Given the description of an element on the screen output the (x, y) to click on. 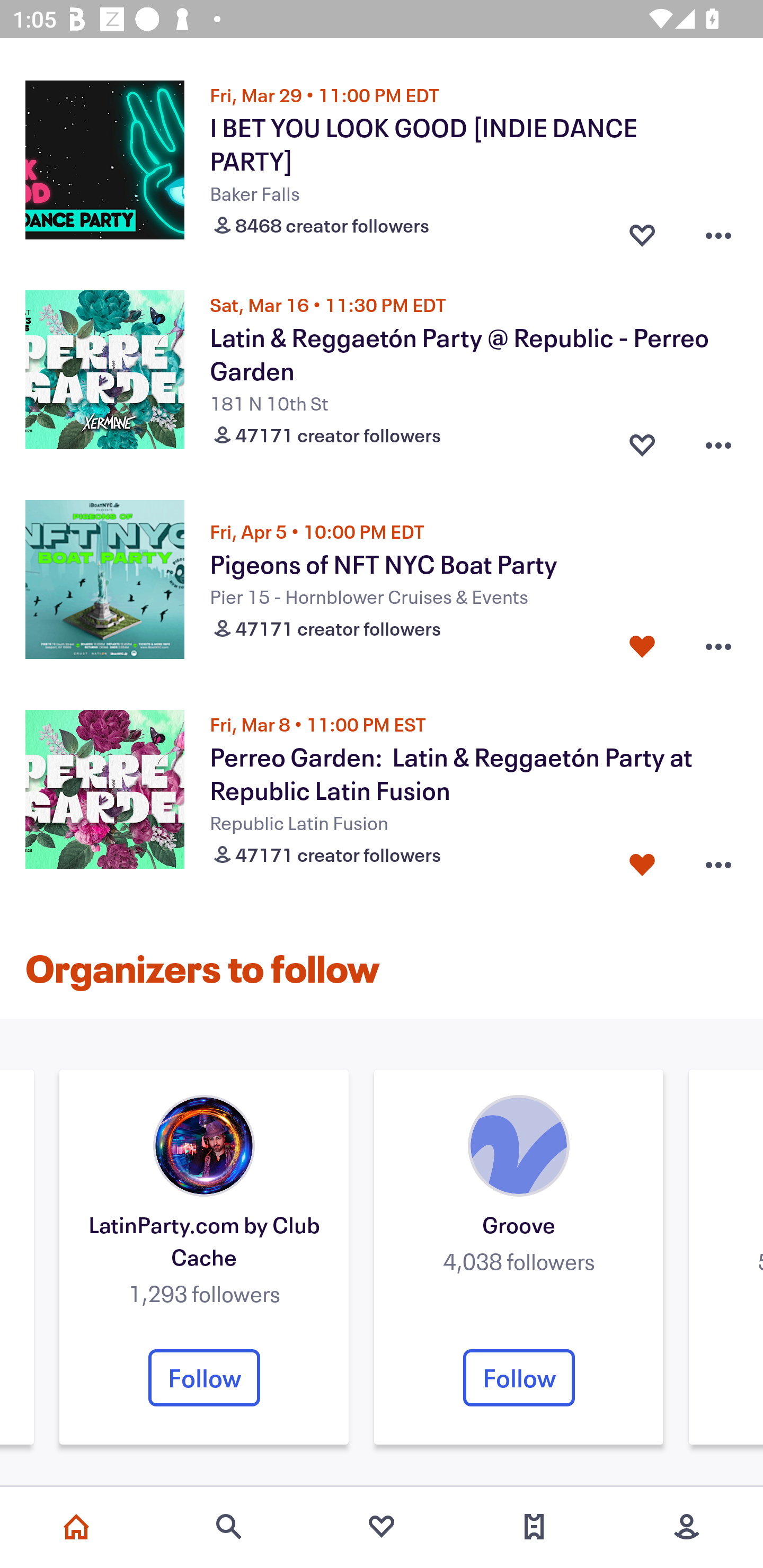
Favorite button (642, 230)
Overflow menu button (718, 230)
Favorite button (642, 441)
Overflow menu button (718, 441)
Favorite button (642, 645)
Overflow menu button (718, 645)
Favorite button (642, 859)
Overflow menu button (718, 859)
Follow Organizer's follow button (204, 1377)
Follow Organizer's follow button (518, 1377)
Home (76, 1526)
Search events (228, 1526)
Favorites (381, 1526)
Tickets (533, 1526)
More (686, 1526)
